Given the description of an element on the screen output the (x, y) to click on. 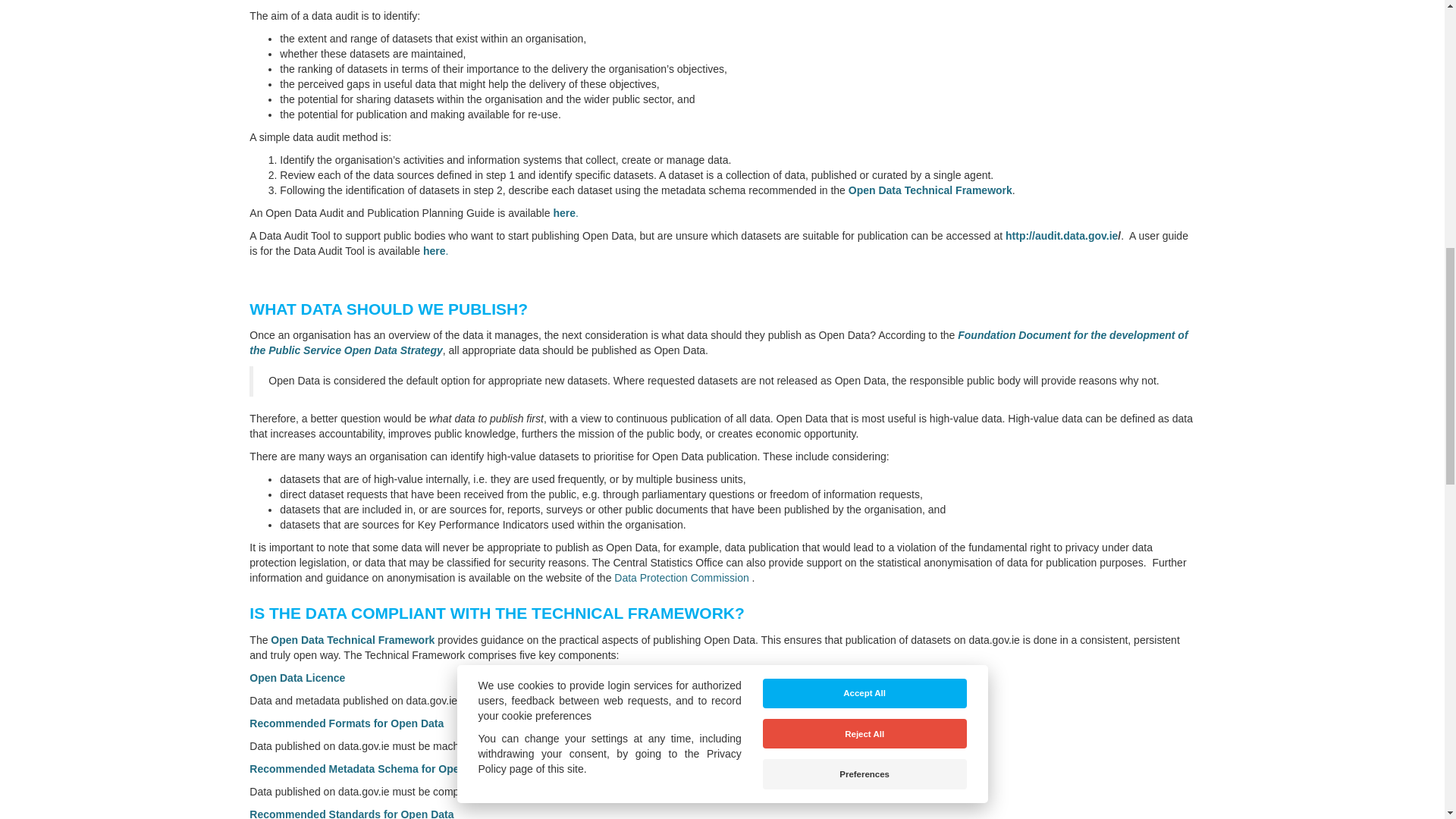
here.  (566, 213)
here.   (438, 250)
Open Data Technical Framework (929, 190)
